Given the description of an element on the screen output the (x, y) to click on. 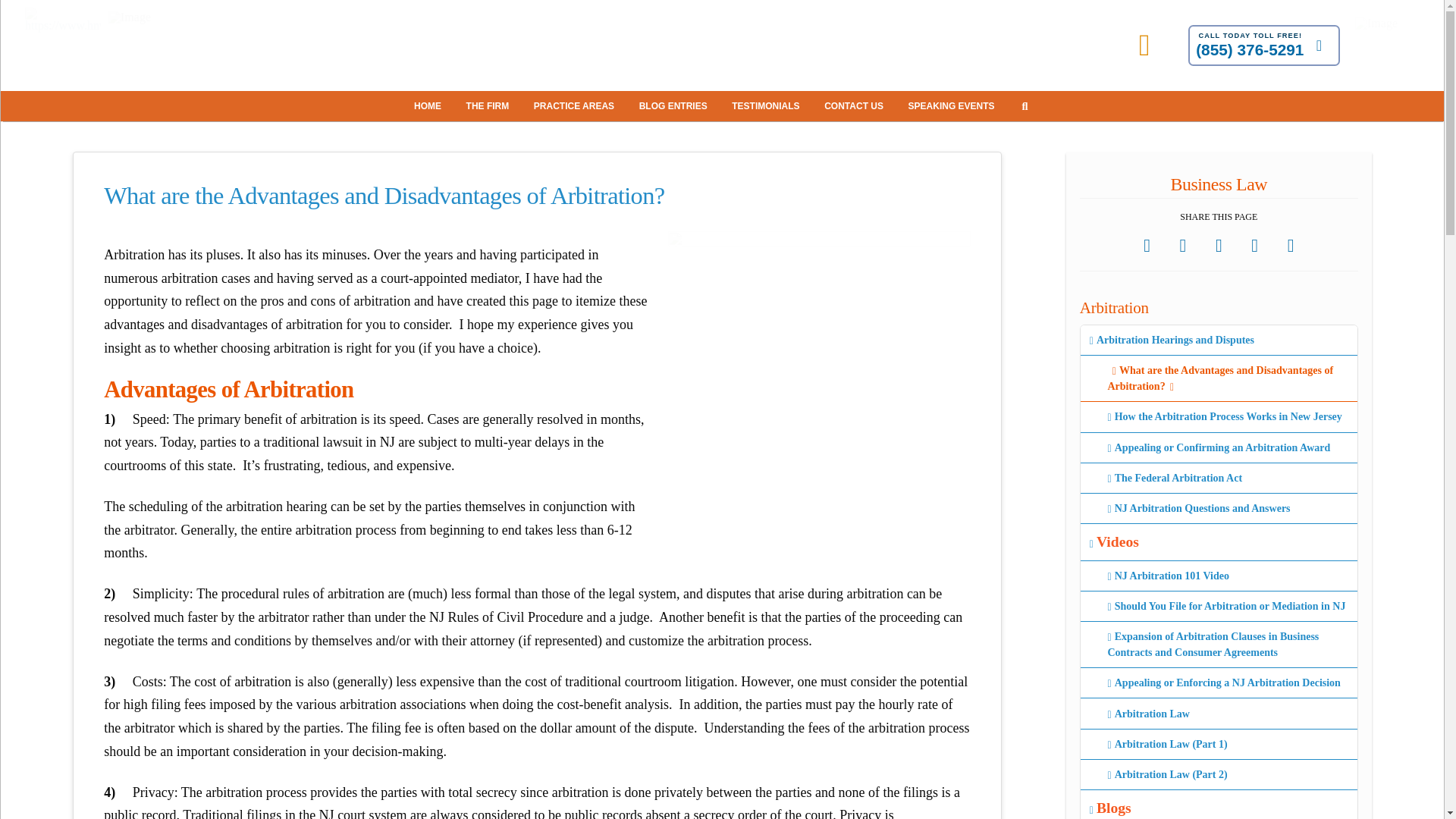
Appealing or Confirming an Arbitration Award (1218, 448)
Share via Email (1290, 245)
What are the Advantages and Disadvantages of Arbitration? (1218, 378)
CONTACT US (856, 105)
NJ Arbitration 101 Video (1218, 576)
SPEAKING EVENTS (953, 105)
BLOG ENTRIES (674, 105)
HOME (429, 105)
Share on Pinterest (1254, 245)
Should You File for Arbitration or Mediation in NJ (1218, 606)
Share on LinkedIn (1219, 245)
How the Arbitration Process Works in New Jersey (1218, 417)
THE FIRM (489, 105)
Arbitration Hearings and Disputes (1218, 340)
NJ Arbitration Questions and Answers (1218, 508)
